Given the description of an element on the screen output the (x, y) to click on. 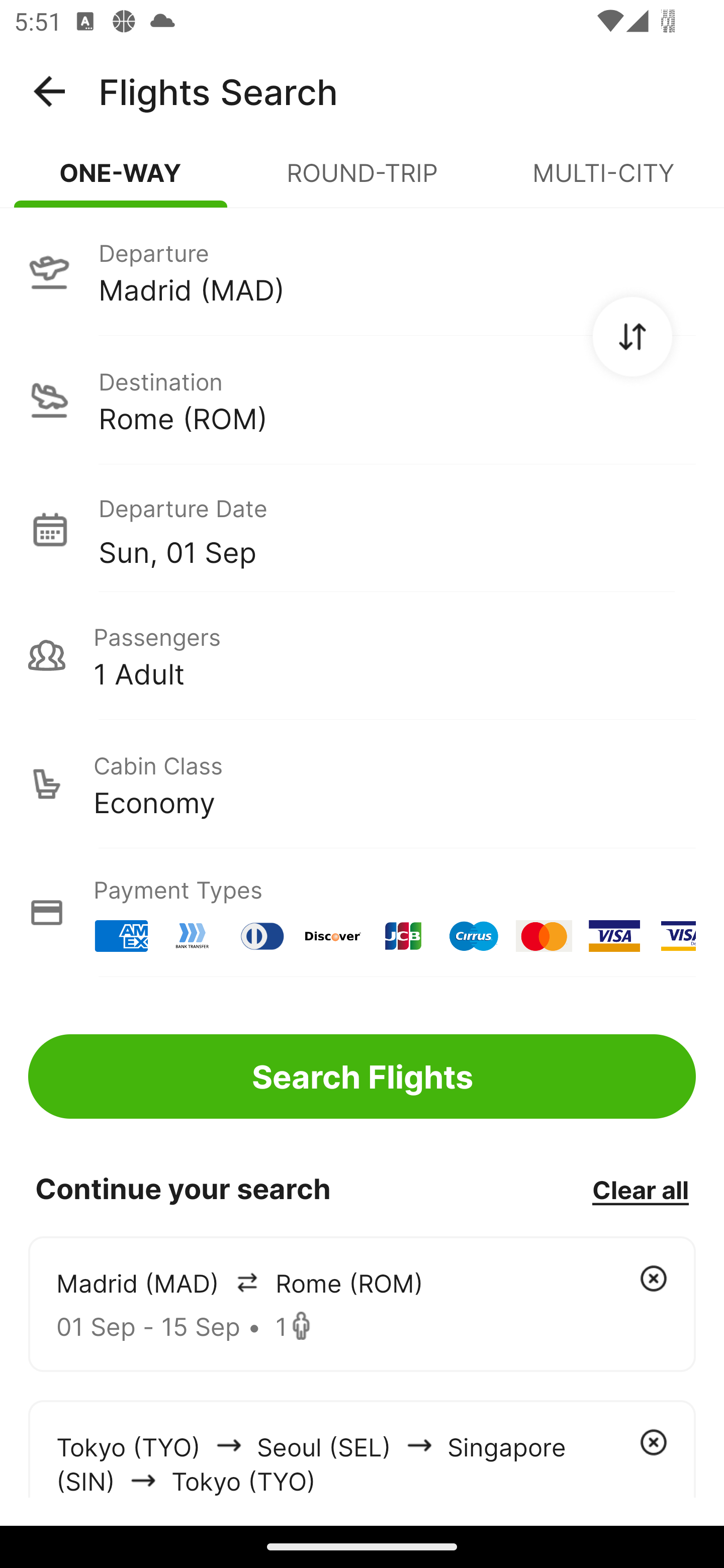
ONE-WAY (120, 180)
ROUND-TRIP (361, 180)
MULTI-CITY (603, 180)
Departure Madrid (MAD) (362, 270)
Destination Rome (ROM) (362, 400)
Departure Date Sun, 01 Sep (396, 528)
Passengers 1 Adult (362, 655)
Cabin Class Economy (362, 783)
Payment Types (362, 912)
Search Flights (361, 1075)
Clear all (640, 1189)
